Given the description of an element on the screen output the (x, y) to click on. 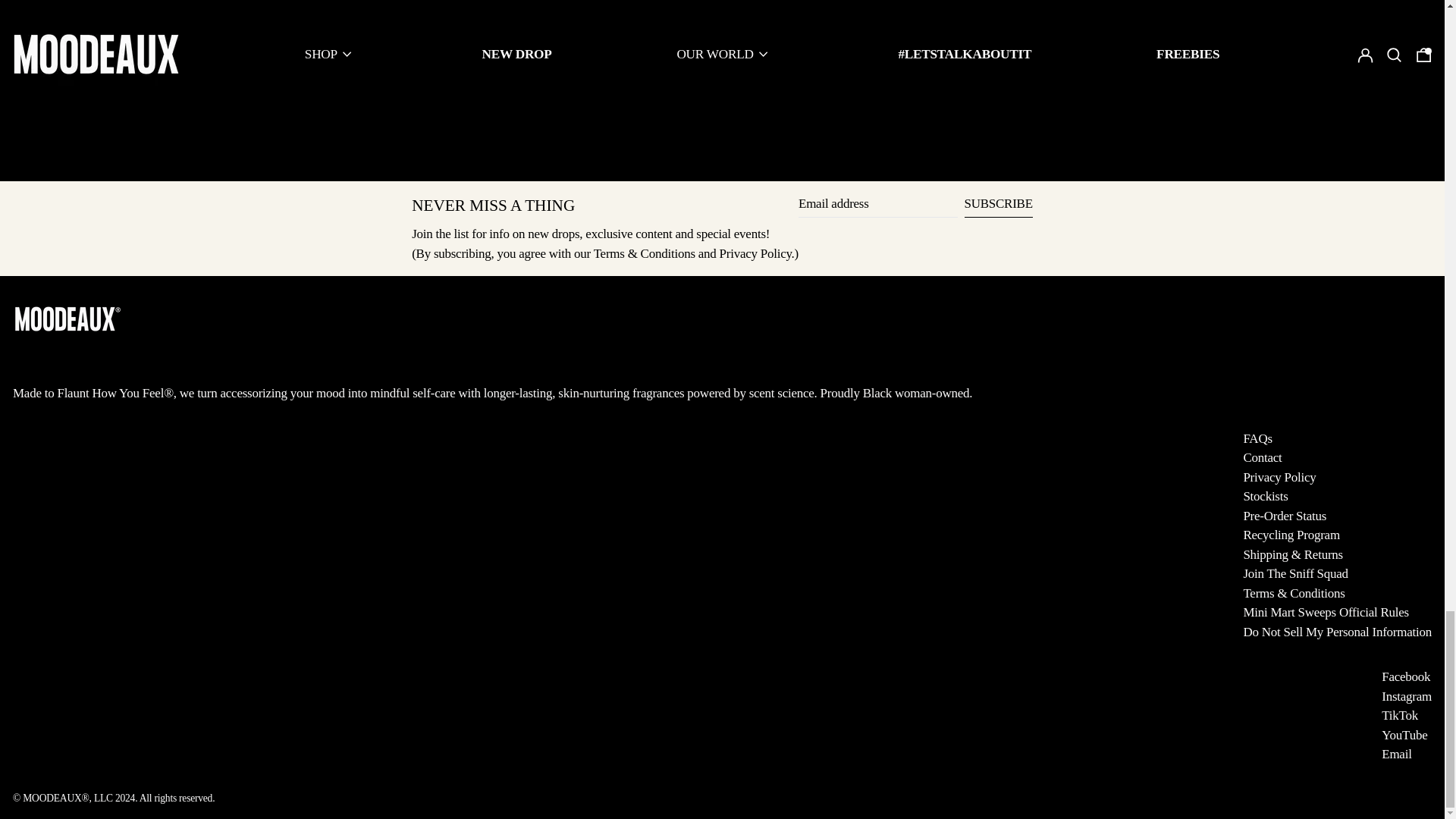
Privacy Policy (755, 253)
